Given the description of an element on the screen output the (x, y) to click on. 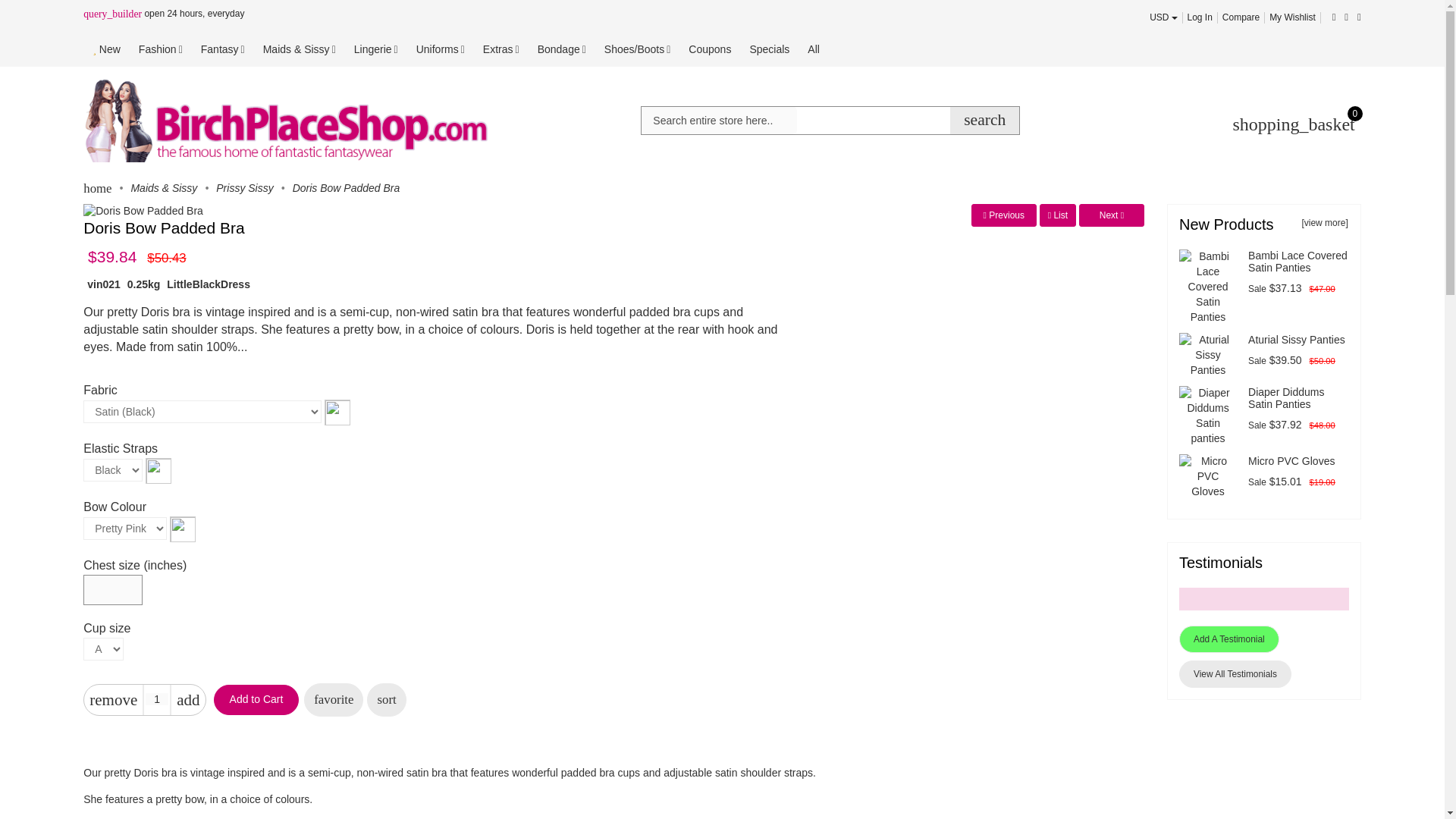
Search entire store here.. (719, 120)
Add to Wishlist (333, 699)
Log In (1200, 17)
Compare (1241, 17)
 Doris Bow Padded Bra  (142, 211)
see more of our colours (182, 528)
1 (156, 698)
see more of our colours (337, 411)
My Wishlist (1292, 17)
see more of our colours (158, 469)
